Given the description of an element on the screen output the (x, y) to click on. 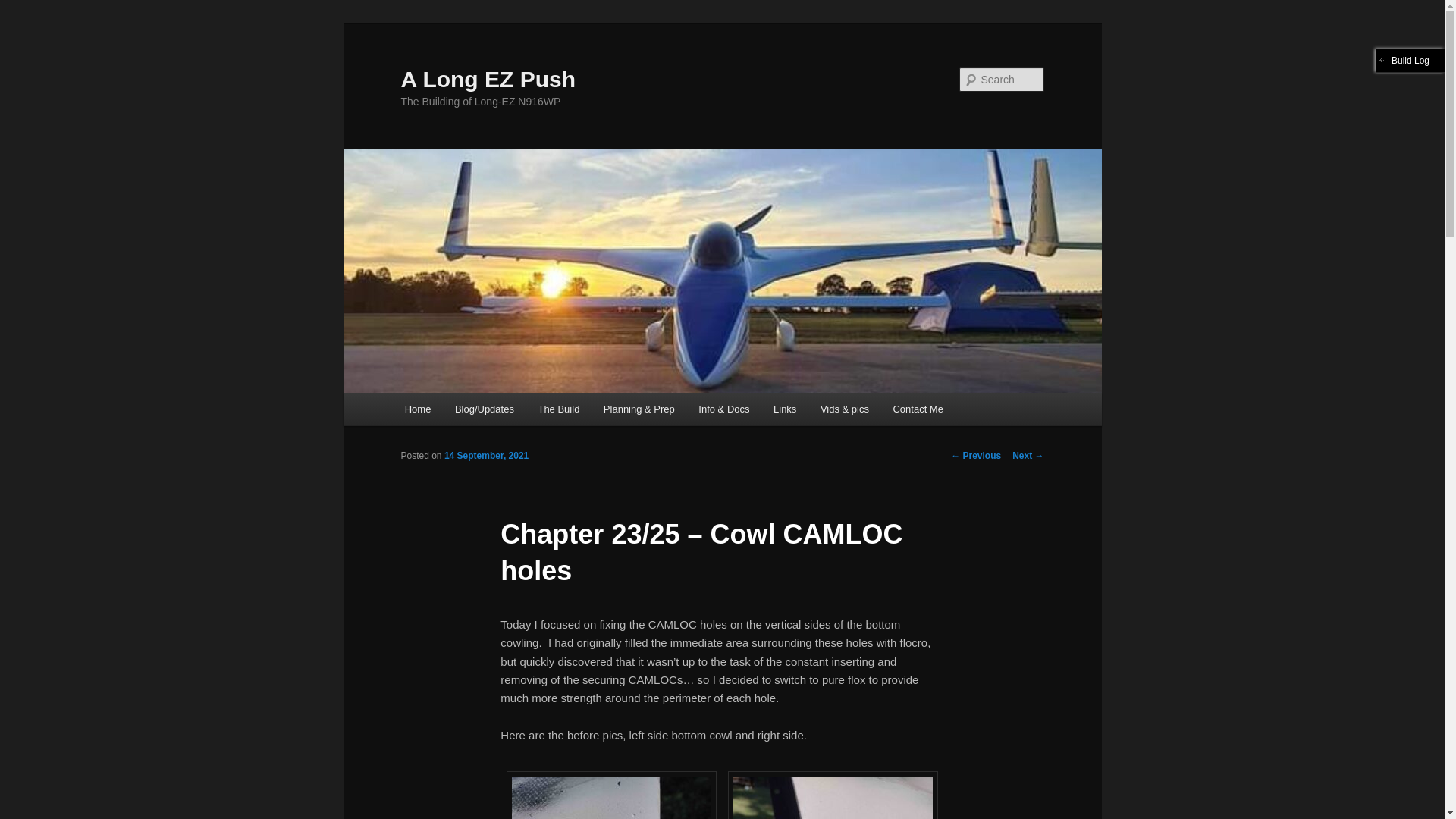
10:22 PM (486, 455)
The Build (558, 409)
Search (24, 8)
Home (417, 409)
A Long EZ Push (487, 78)
